Given the description of an element on the screen output the (x, y) to click on. 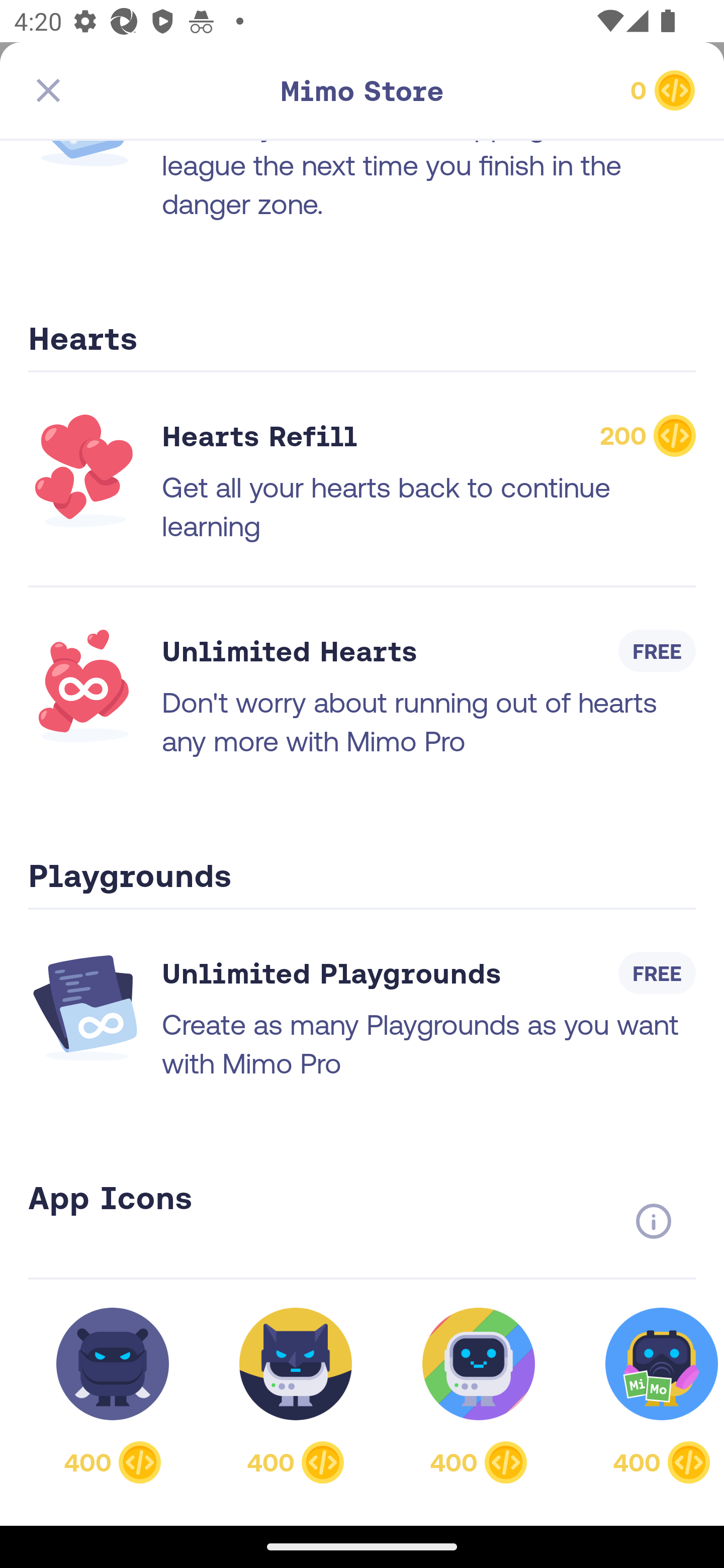
Path Toolbar Image 4 (134, 90)
Path Toolbar Image 0 (361, 90)
Path Toolbar Image 0 (588, 90)
Info (653, 1221)
Store App Icon 400 Store Coins Icon (112, 1395)
Store App Icon 400 Store Coins Icon (295, 1395)
Store App Icon 400 Store Coins Icon (478, 1395)
Store App Icon 400 Store Coins Icon (650, 1395)
